Given the description of an element on the screen output the (x, y) to click on. 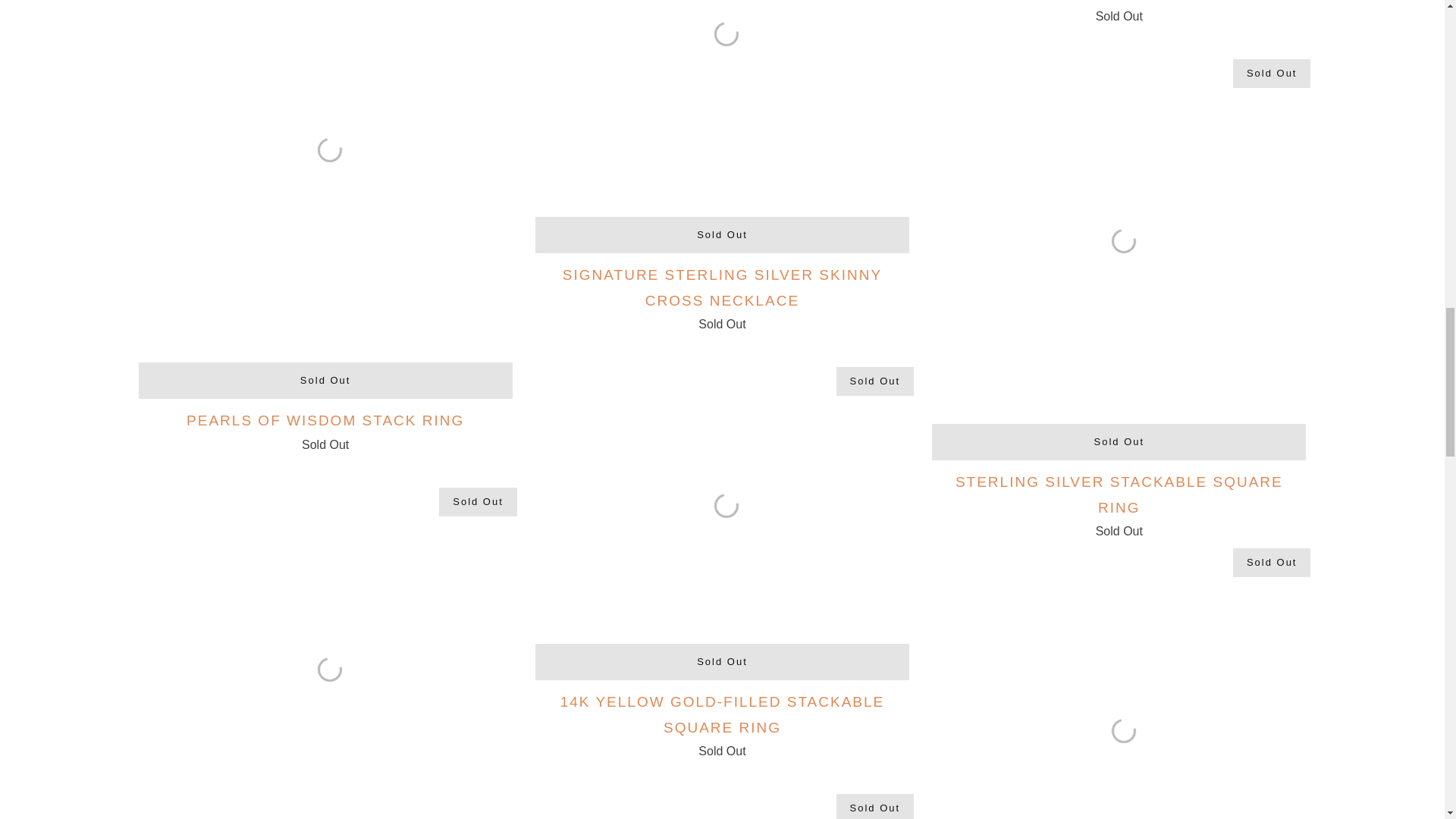
Oxidized Sterling Silver Stackable Square Ring (1118, 678)
14K Yellow Gold-Filled Stackable Square Ring (721, 499)
14K Yellow Gold-Filled Stackable Square Ring (721, 723)
Pearls of Wisdom Stack Ring (325, 428)
Signature Sterling Silver Skinny Cross Necklace (721, 108)
Signature Sterling Silver Skinny Cross Necklace (721, 296)
Give Peace a Chance Necklace (1118, 11)
Sterling Silver Stackable Square Ring (1118, 503)
Sterling Silver Stackable Ring (325, 648)
